Given the description of an element on the screen output the (x, y) to click on. 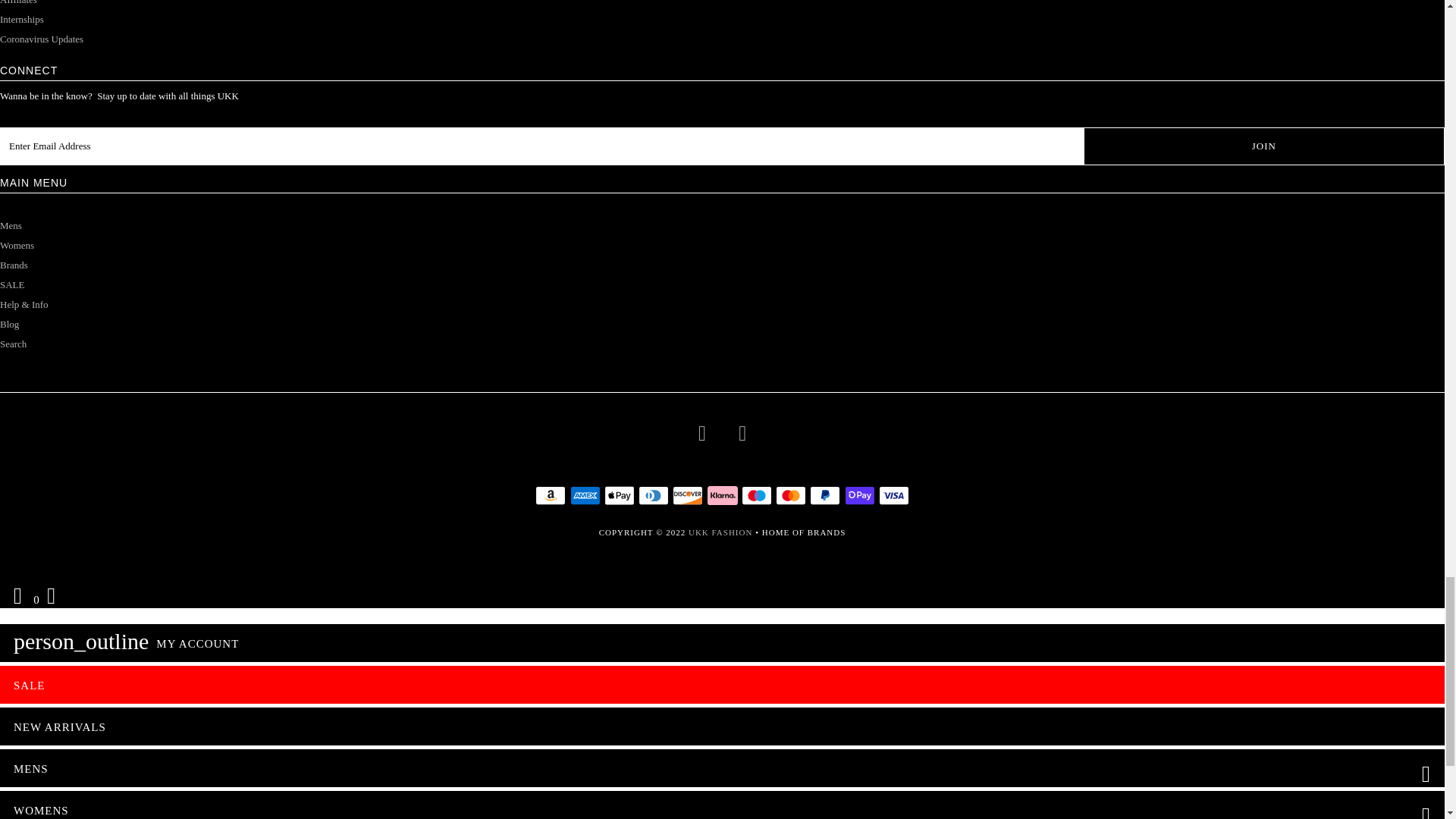
American Express (584, 495)
Klarna (721, 495)
Mastercard (791, 495)
Maestro (756, 495)
PayPal (824, 495)
Apple Pay (619, 495)
Amazon (550, 495)
Discover (687, 495)
Diners Club (653, 495)
Visa (893, 495)
Shop Pay (859, 495)
